Given the description of an element on the screen output the (x, y) to click on. 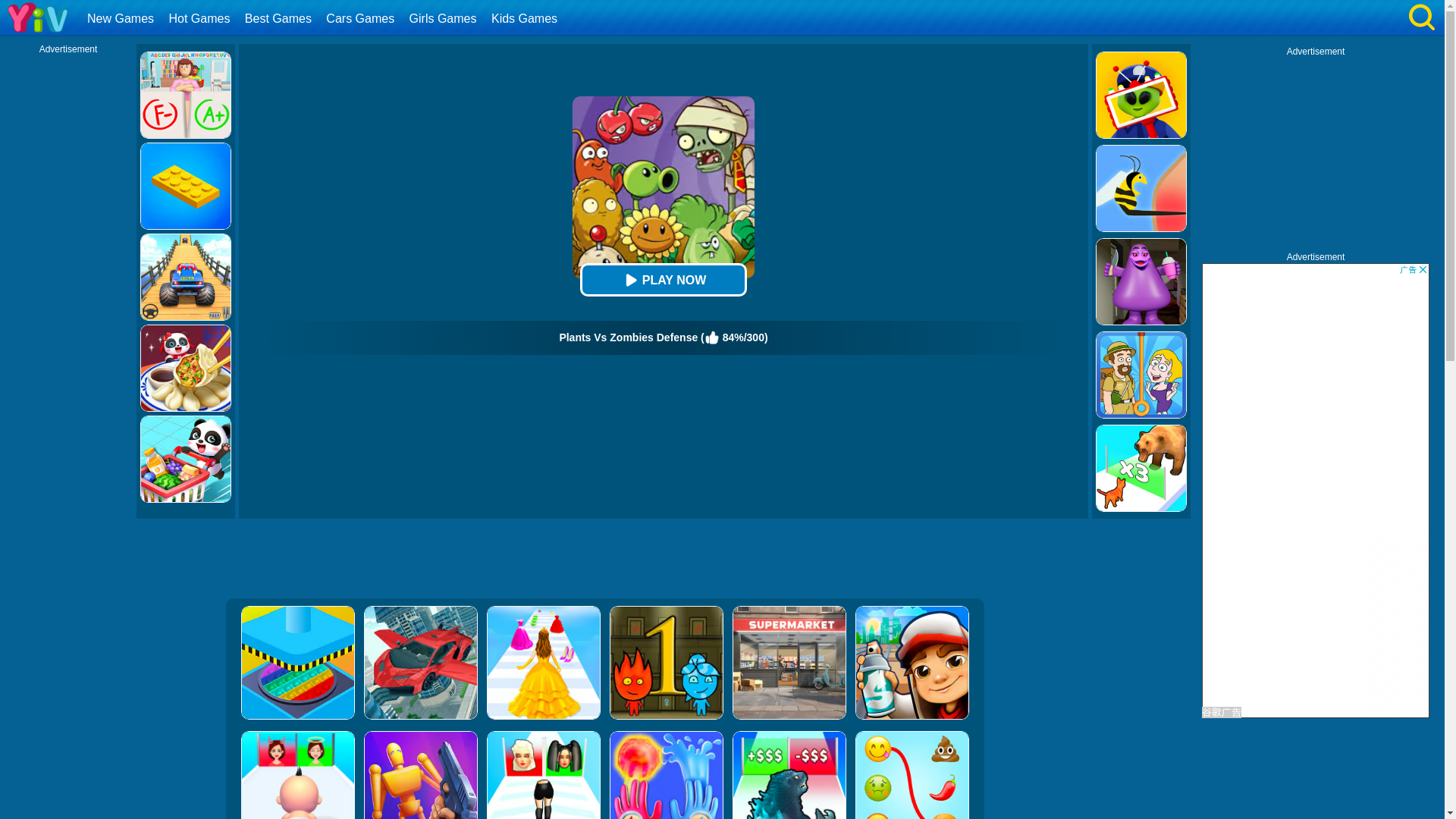
Girls Games (445, 18)
Best Games (279, 18)
Advertisement (603, 560)
New Games (121, 18)
Cars Games (361, 18)
PLAY NOW (662, 279)
Kids Games (525, 18)
Advertisement (1315, 152)
Hot Games (200, 18)
